Given the description of an element on the screen output the (x, y) to click on. 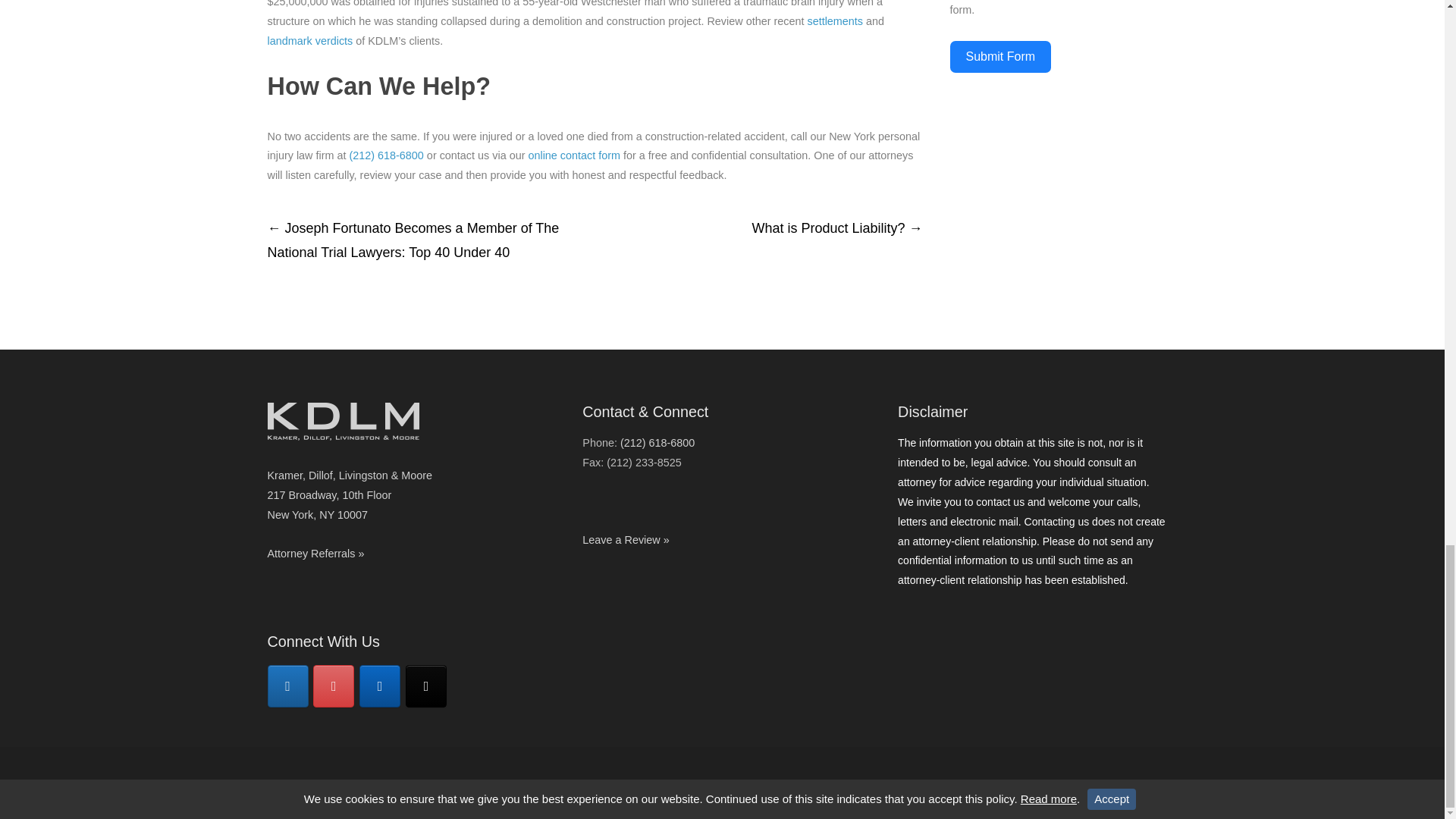
Facebook (286, 686)
KDLM on X Twitter (426, 686)
KDLM on Instagram (333, 686)
Linkedin (379, 686)
